Given the description of an element on the screen output the (x, y) to click on. 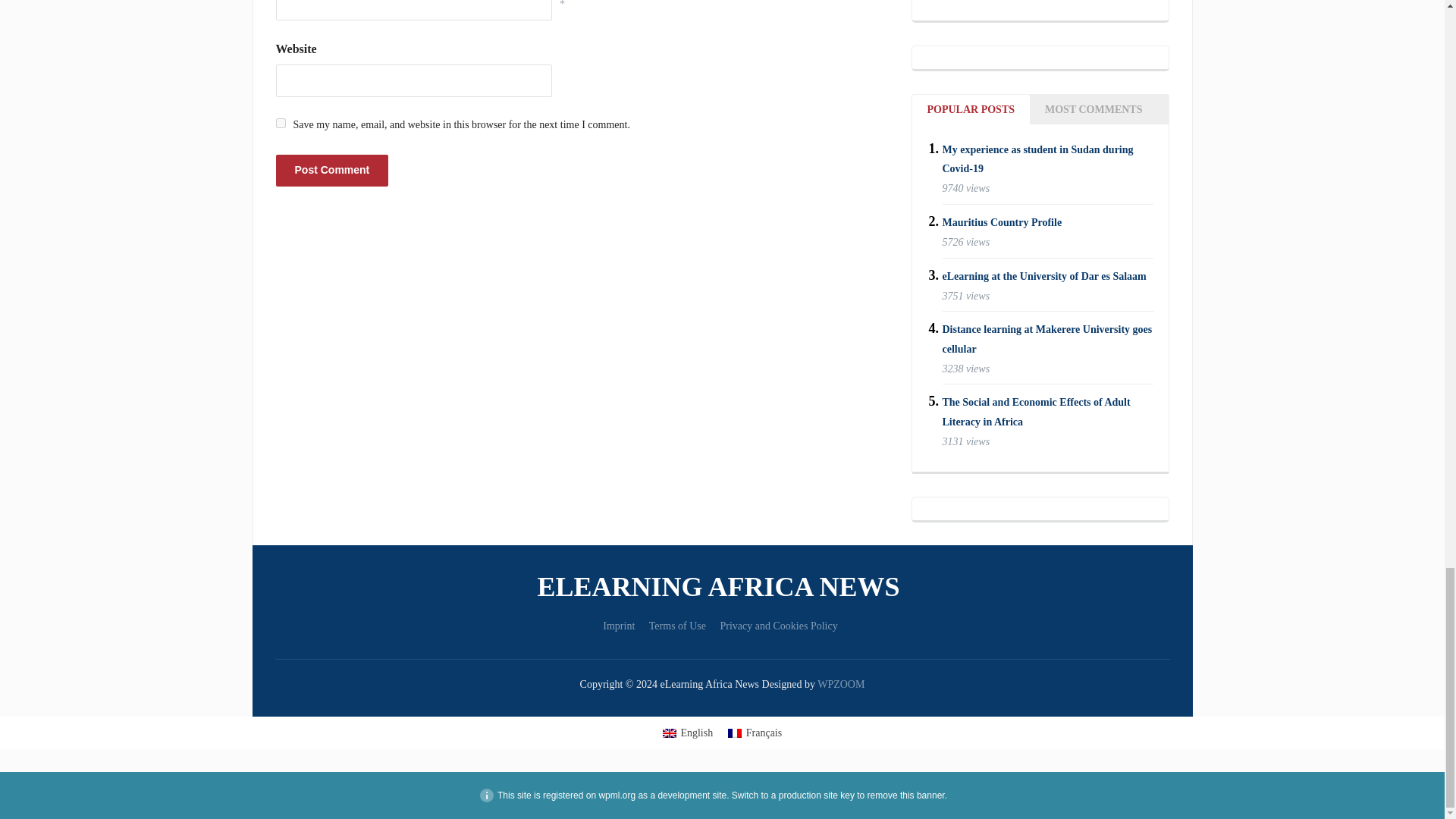
Post Comment (332, 169)
Permanent Link to Mauritius Country Profile (1001, 222)
Popular Posts (970, 109)
yes (280, 122)
Post Comment (332, 169)
Most Comments (1093, 109)
